Given the description of an element on the screen output the (x, y) to click on. 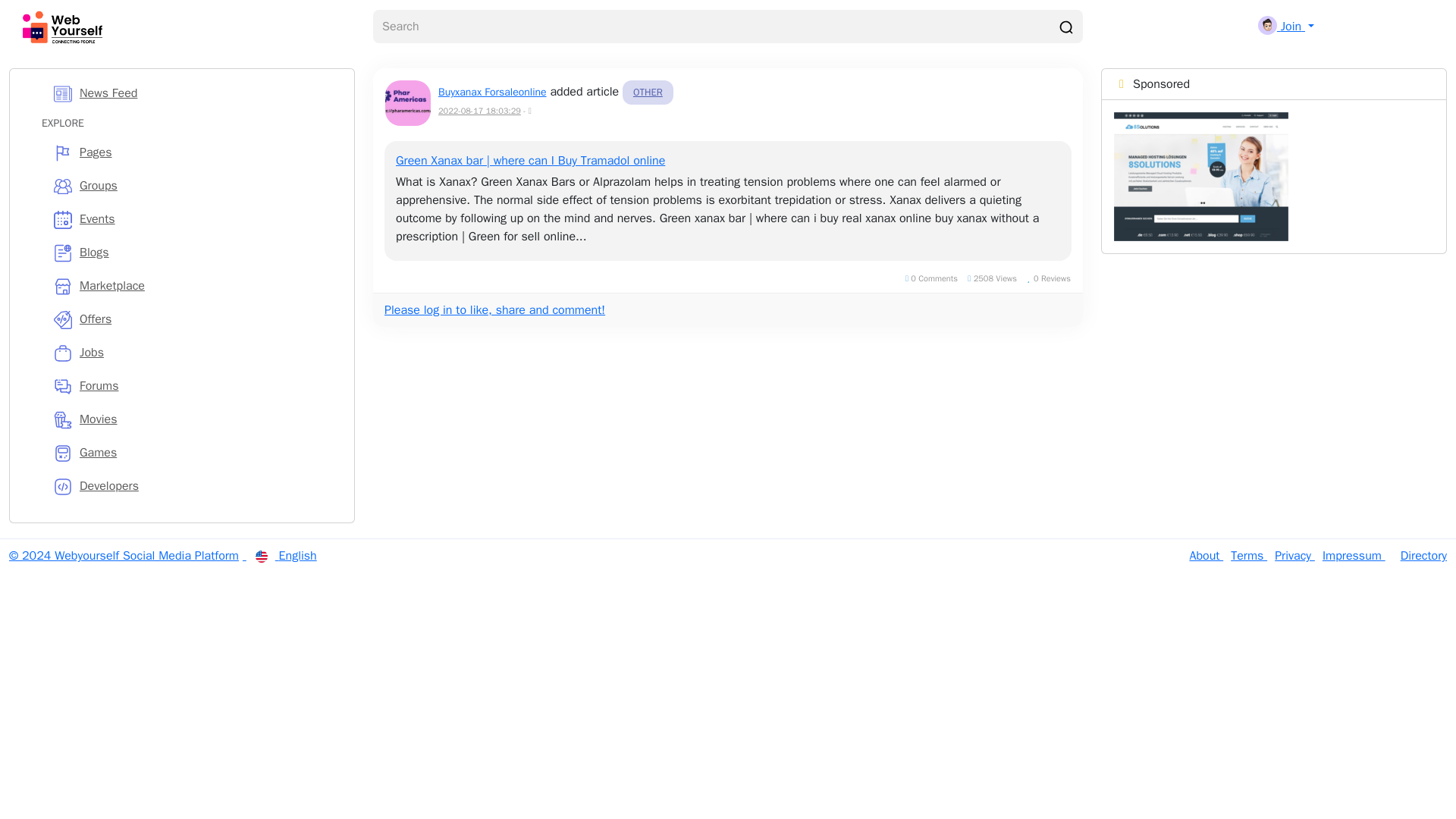
Forums (194, 385)
2022-08-17 18:03:29 (479, 110)
Movies (194, 418)
Jobs (194, 352)
Offers (194, 318)
Games (194, 452)
Join (1285, 26)
English (286, 555)
Groups (194, 185)
News Feed (194, 92)
